Given the description of an element on the screen output the (x, y) to click on. 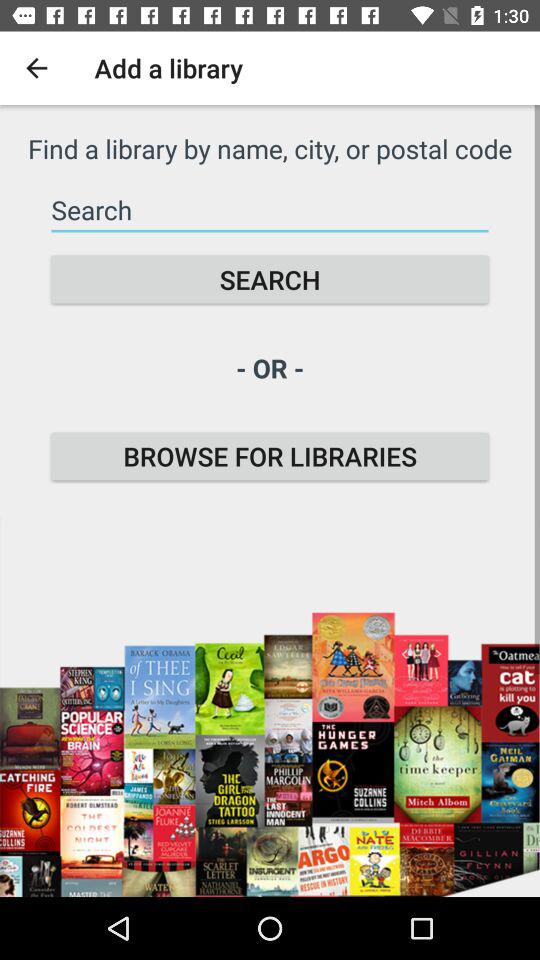
scroll until search icon (269, 279)
